Given the description of an element on the screen output the (x, y) to click on. 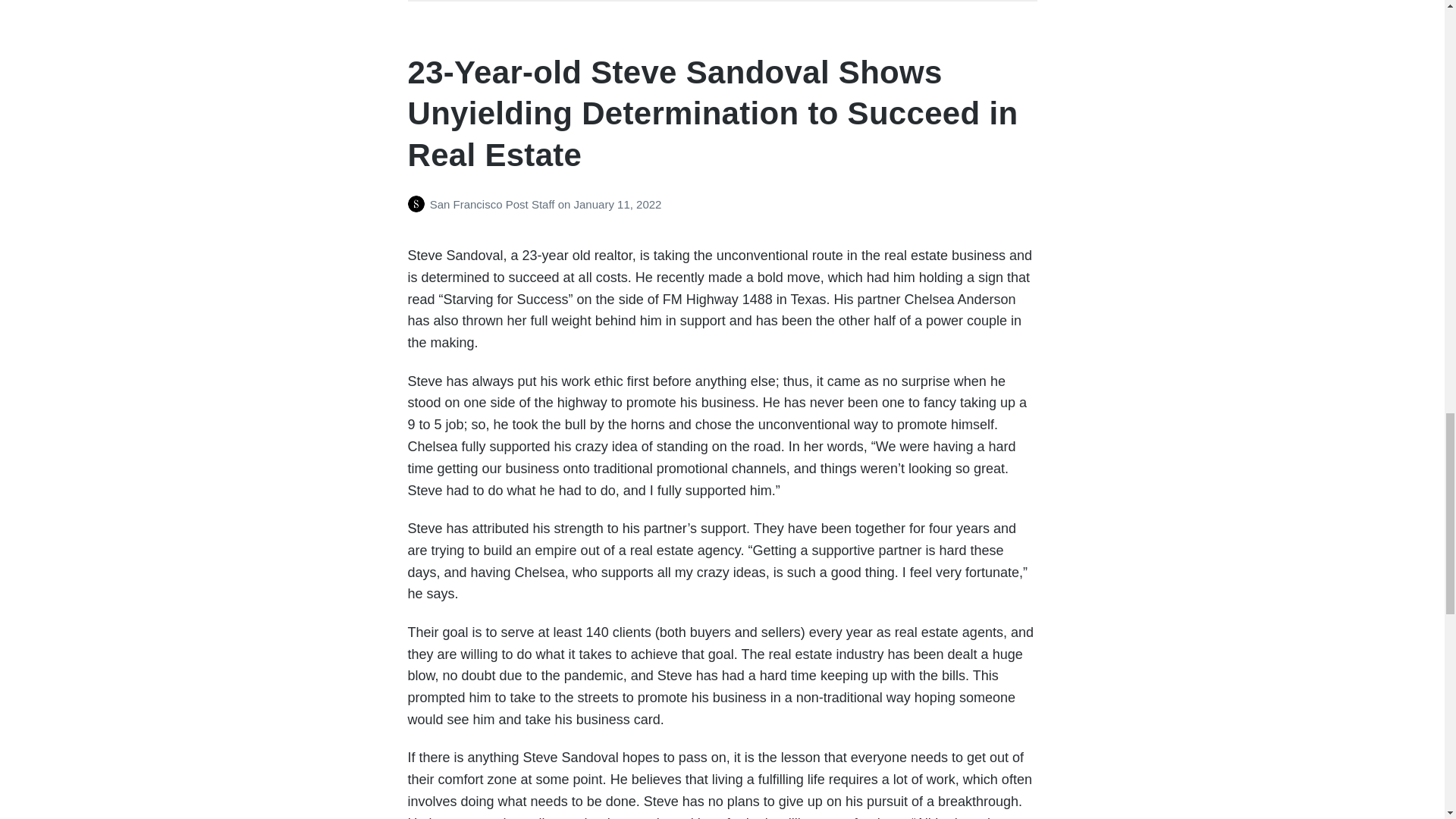
Posts by San Francisco Post Staff (418, 204)
